Given the description of an element on the screen output the (x, y) to click on. 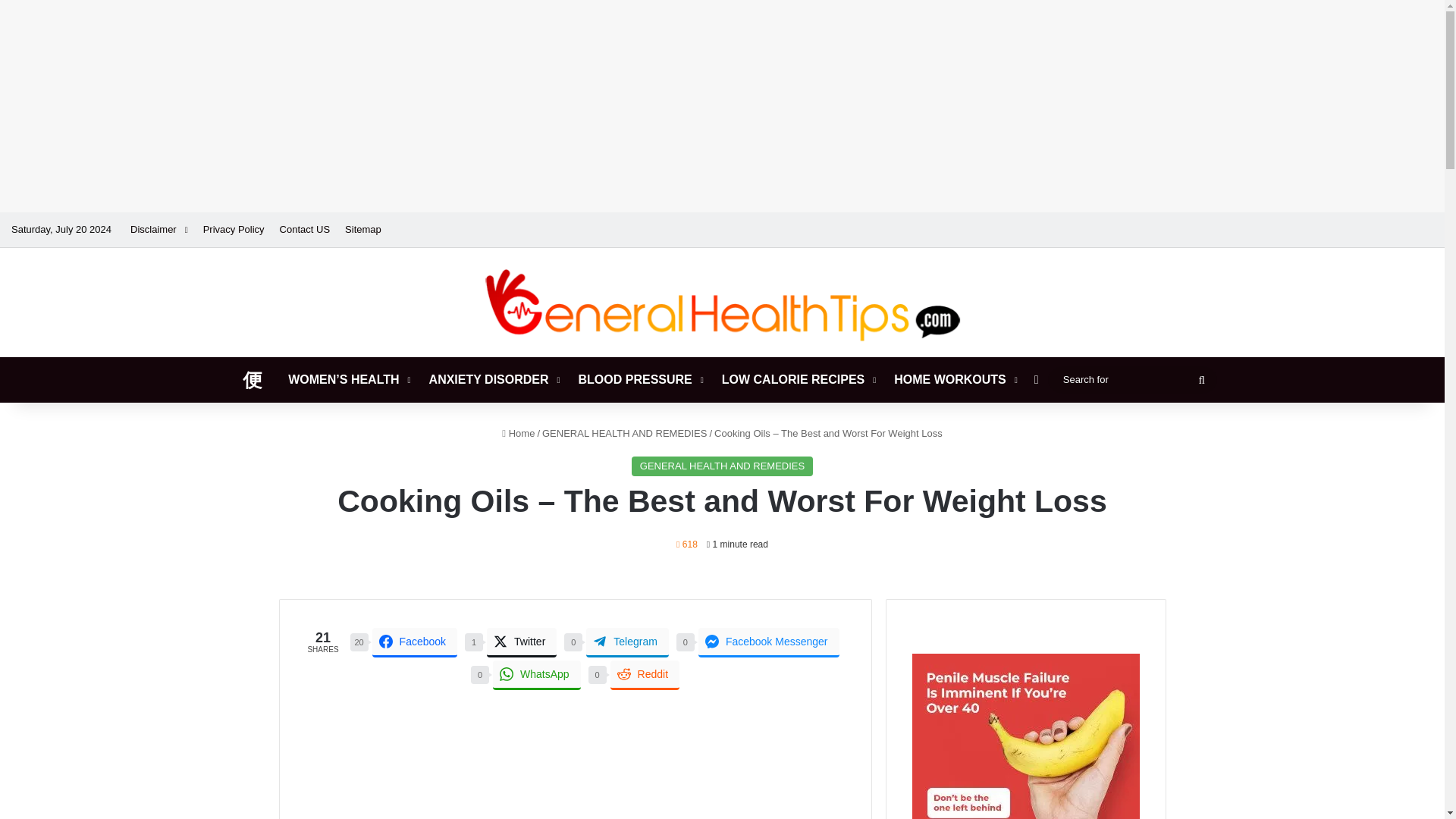
Share on WhatsApp (536, 675)
ANXIETY DISORDER (493, 379)
Disclaimer (158, 229)
Home (518, 432)
GENERAL HEALTH AND REMEDIES (623, 432)
Share on Facebook Messenger (769, 642)
LOW CALORIE RECIPES (797, 379)
Privacy Policy (233, 229)
Search for (1132, 379)
Advertisement (574, 755)
Contact US (304, 229)
Share on Facebook (414, 642)
Share on Telegram (627, 642)
Health and Wellness Information, Advice and Remedies (722, 304)
Share on Reddit (644, 675)
